Given the description of an element on the screen output the (x, y) to click on. 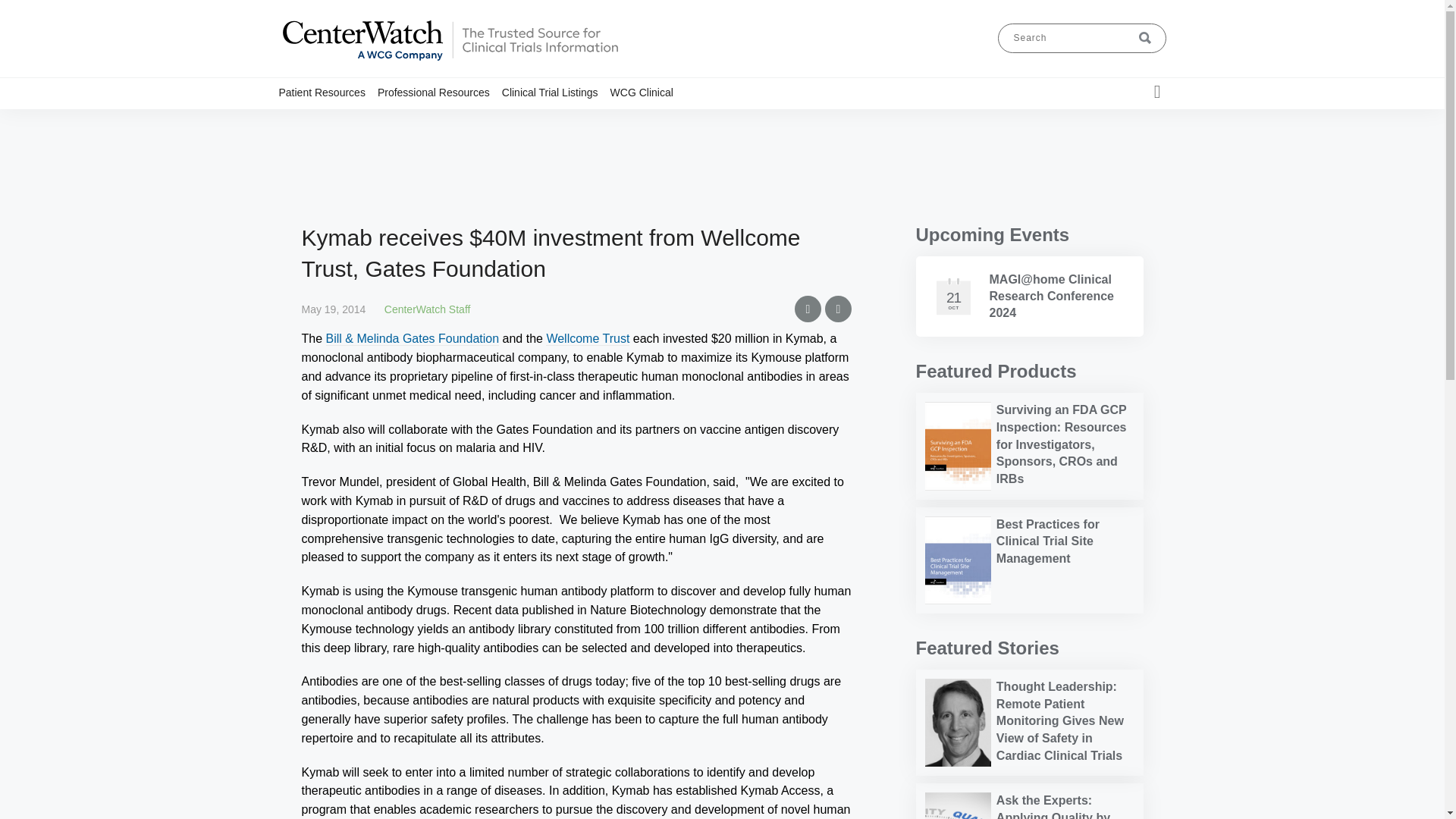
Patient Resources (328, 91)
WCG Clinical (647, 91)
FDA Approved Drugs (372, 121)
What are Clinical Trials? (360, 121)
White Papers (487, 121)
Books (477, 121)
Events (483, 121)
CenterWatch Staff (427, 309)
Benchmark Reports (464, 121)
eLearning (480, 121)
